Given the description of an element on the screen output the (x, y) to click on. 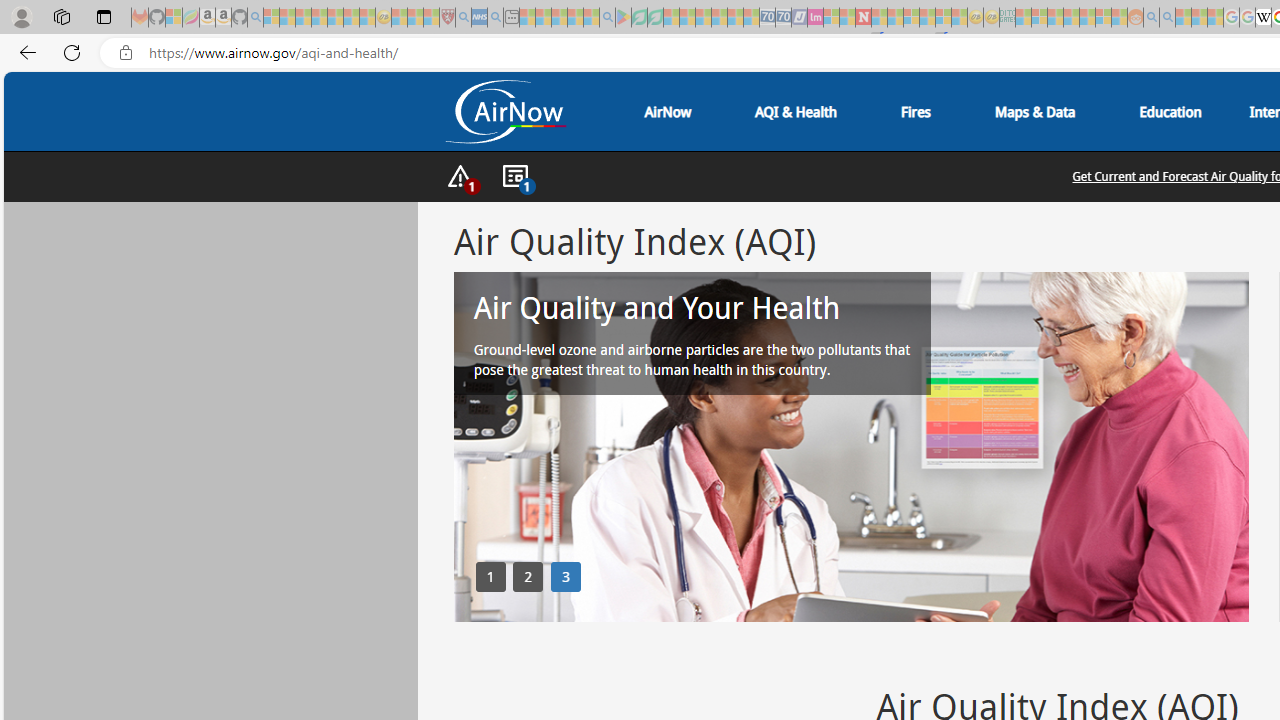
Air Now Logo (504, 111)
AutomationID: nav-alerts-toggle (459, 177)
Bluey: Let's Play! - Apps on Google Play - Sleeping (623, 17)
